Given the description of an element on the screen output the (x, y) to click on. 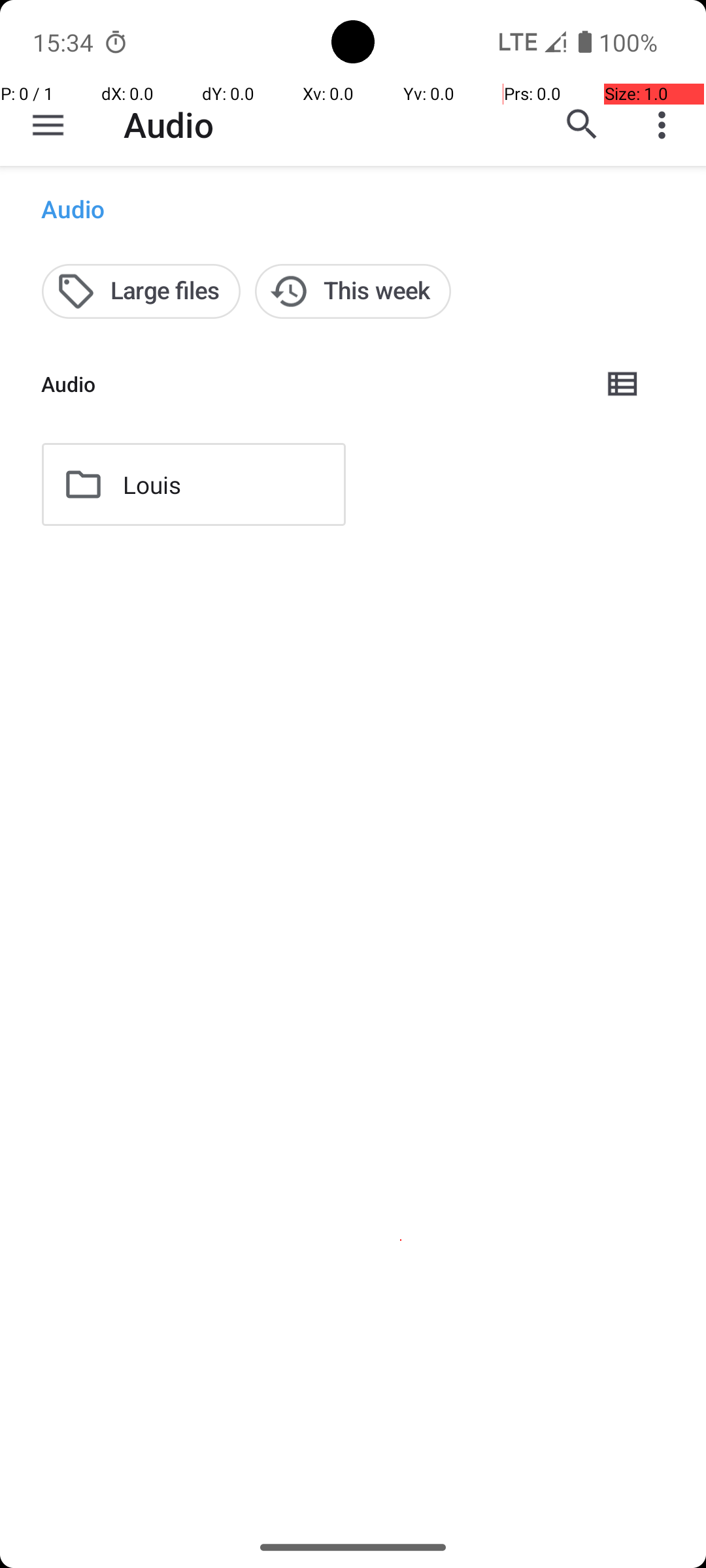
Louis Element type: android.widget.TextView (151, 484)
